Given the description of an element on the screen output the (x, y) to click on. 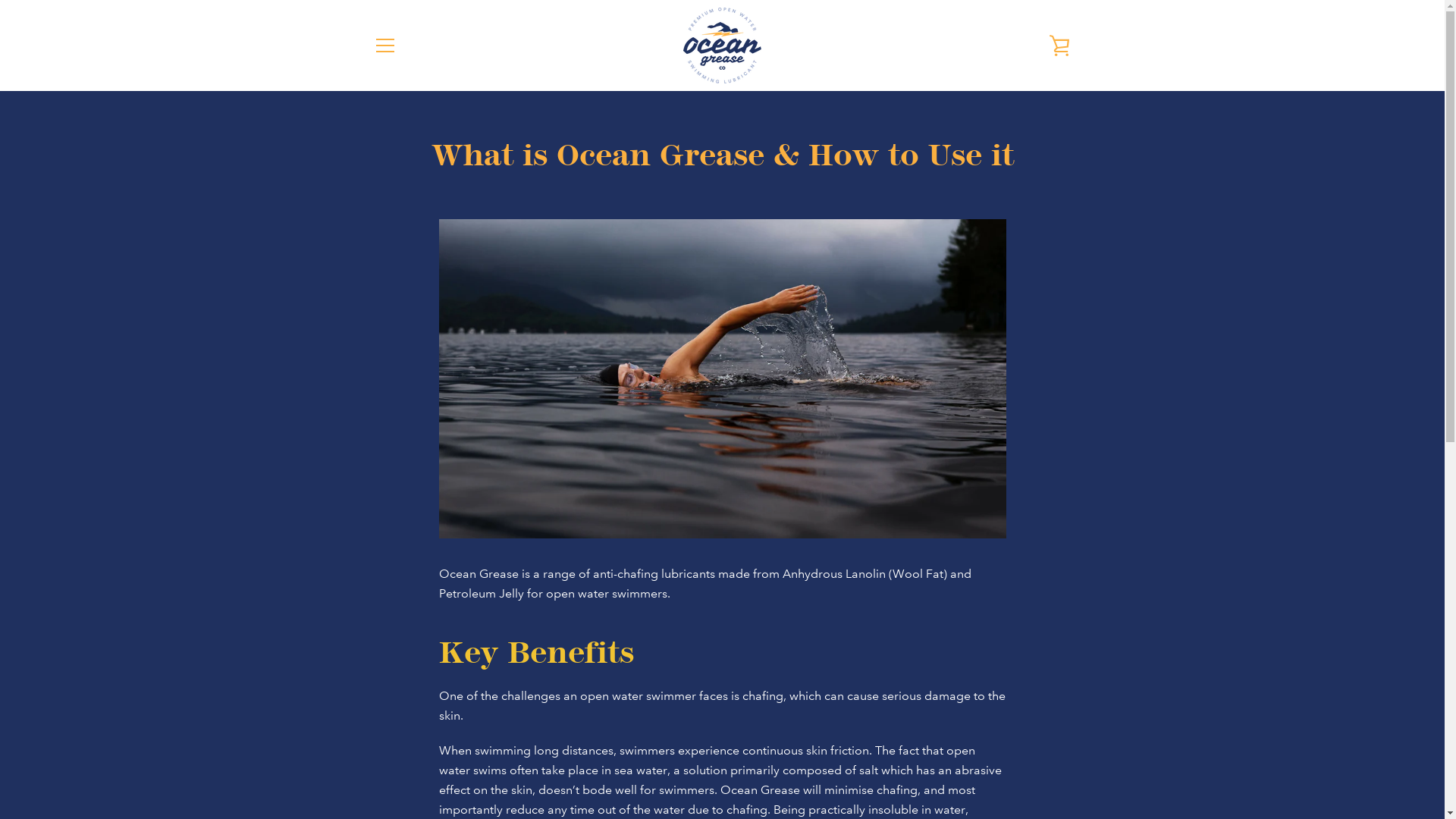
MENU Element type: text (384, 45)
Instagram Element type: text (372, 768)
SEARCH Element type: text (722, 700)
Ocean Grease Element type: text (974, 759)
Skip to content Element type: text (0, 0)
VIEW CART Element type: text (1059, 45)
Powered by Shopify Element type: text (1004, 769)
